Given the description of an element on the screen output the (x, y) to click on. 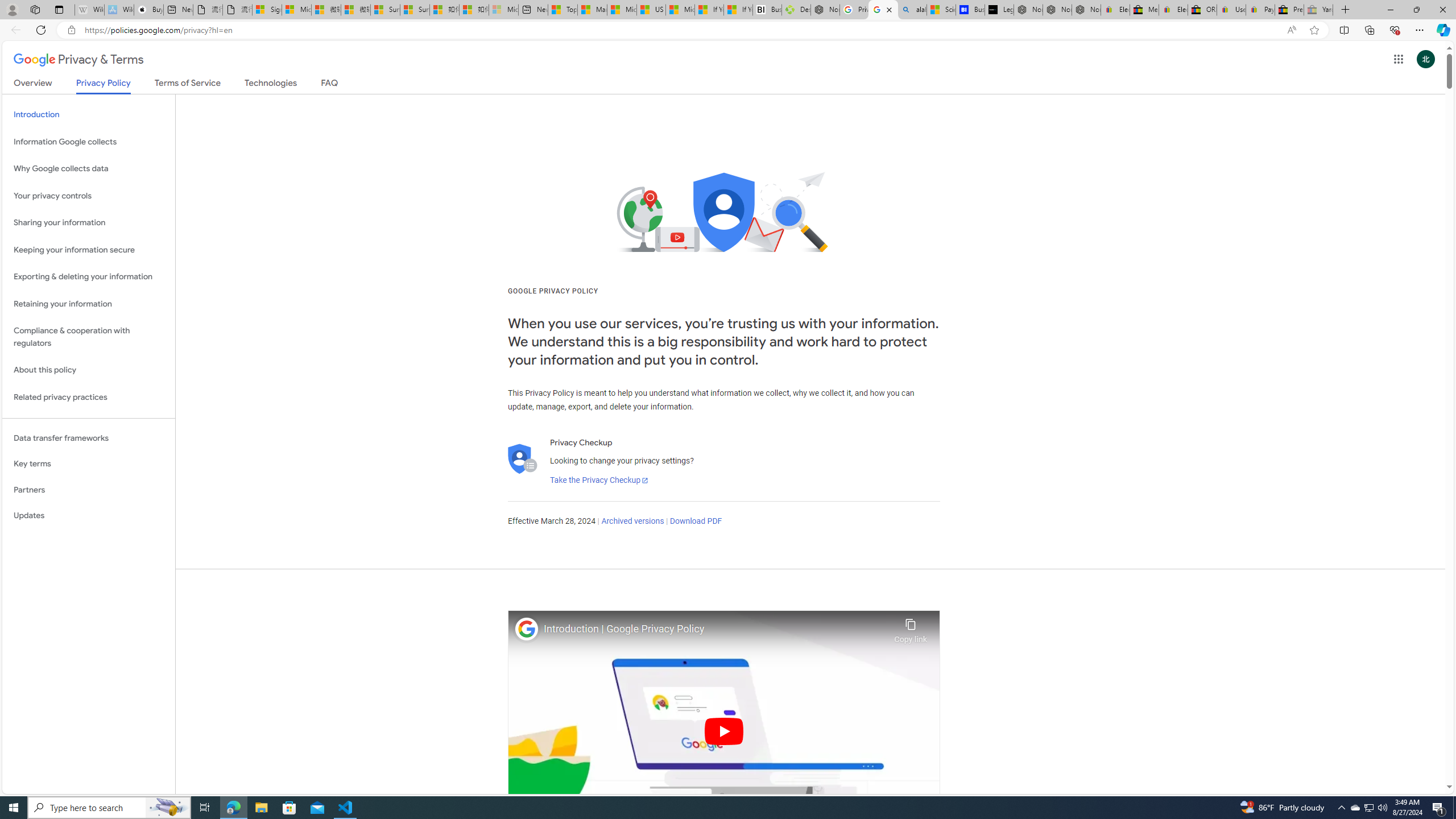
Class: gb_E (1398, 59)
Overview (32, 84)
Your privacy controls (88, 195)
alabama high school quarterback dies - Search (911, 9)
Retaining your information (88, 303)
Privacy & Terms (78, 60)
